Given the description of an element on the screen output the (x, y) to click on. 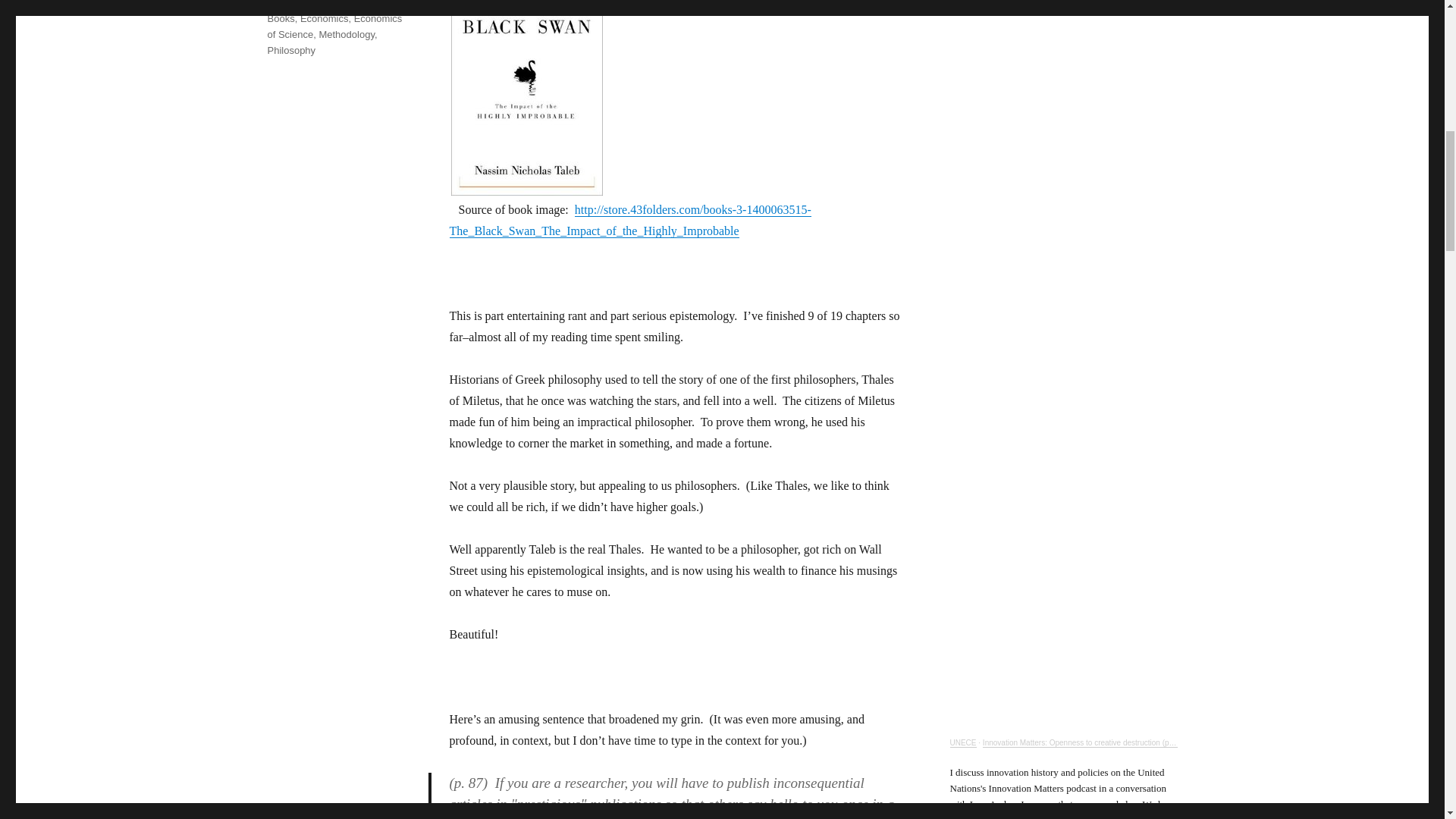
Philosophy (290, 50)
October 7, 2007 (301, 1)
UNECE (962, 742)
Methodology (346, 34)
UNECE (962, 742)
Economics of Science (333, 26)
Economics (324, 18)
Books (280, 18)
